Given the description of an element on the screen output the (x, y) to click on. 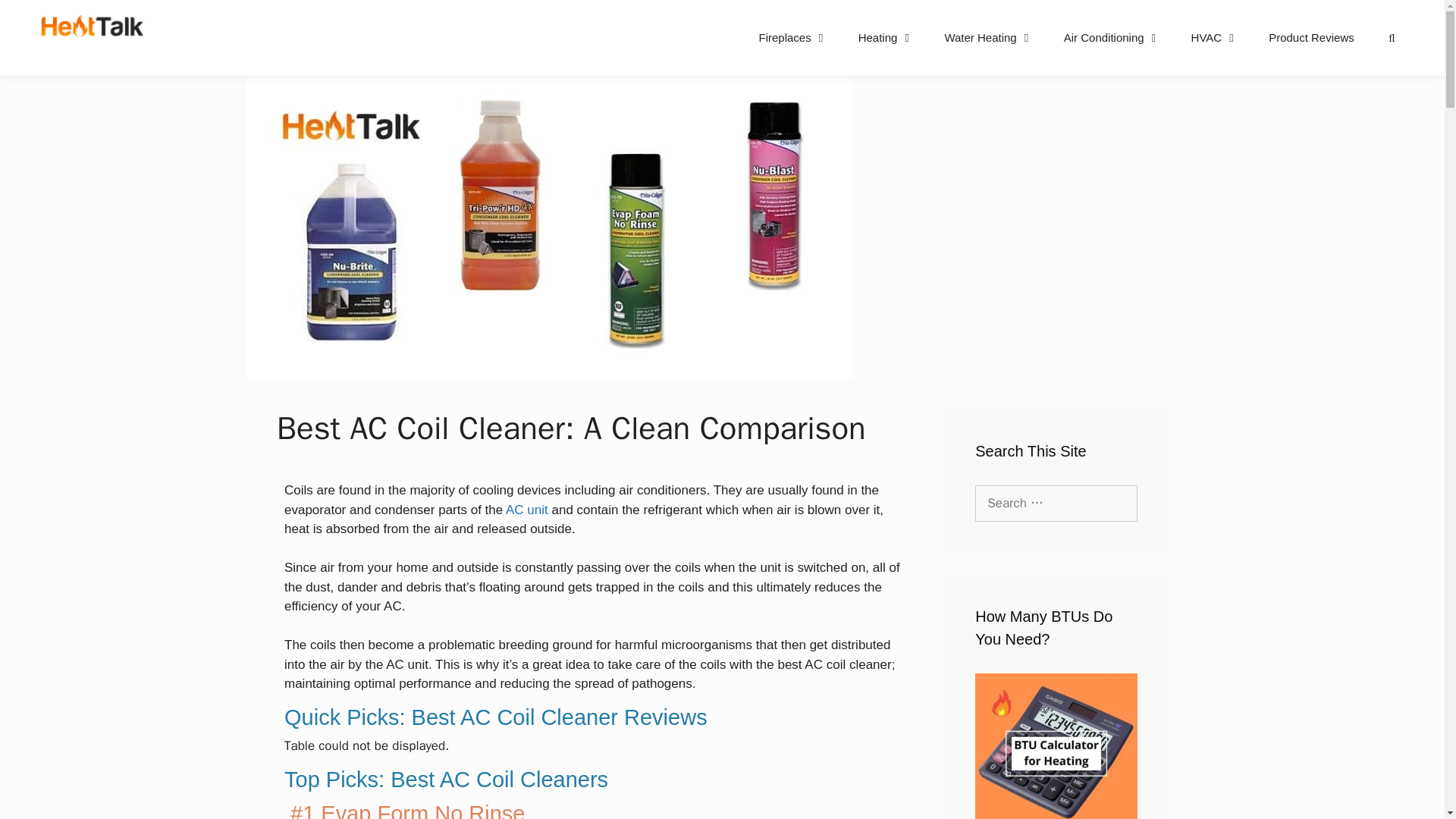
Heating (886, 37)
Air Conditioning (1112, 37)
HVAC (1214, 37)
Water Heating (988, 37)
Search for: (1056, 503)
Fireplaces (792, 37)
